Given the description of an element on the screen output the (x, y) to click on. 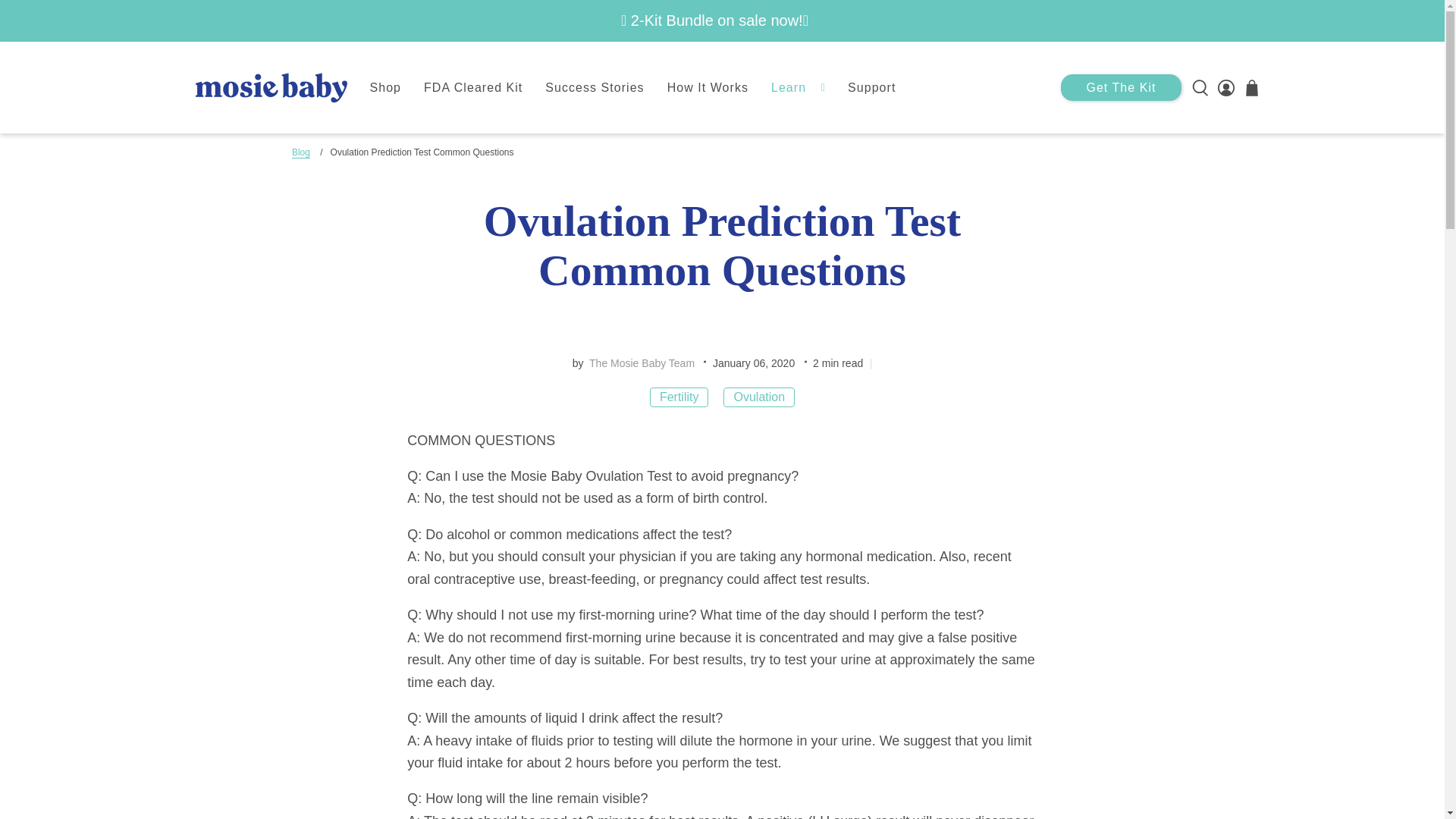
Fertility (678, 397)
FDA Cleared Kit (473, 87)
Success Stories (594, 87)
Conception 101 tagged Ovulation (758, 397)
Ovulation (758, 397)
Shop (385, 87)
How It Works (708, 87)
Support (871, 87)
Get The Kit (1120, 87)
Blog (301, 152)
 The Mosie Baby Team (640, 363)
Conception 101 tagged Fertility (678, 397)
Learn (797, 87)
Mosie Baby (271, 86)
